Given the description of an element on the screen output the (x, y) to click on. 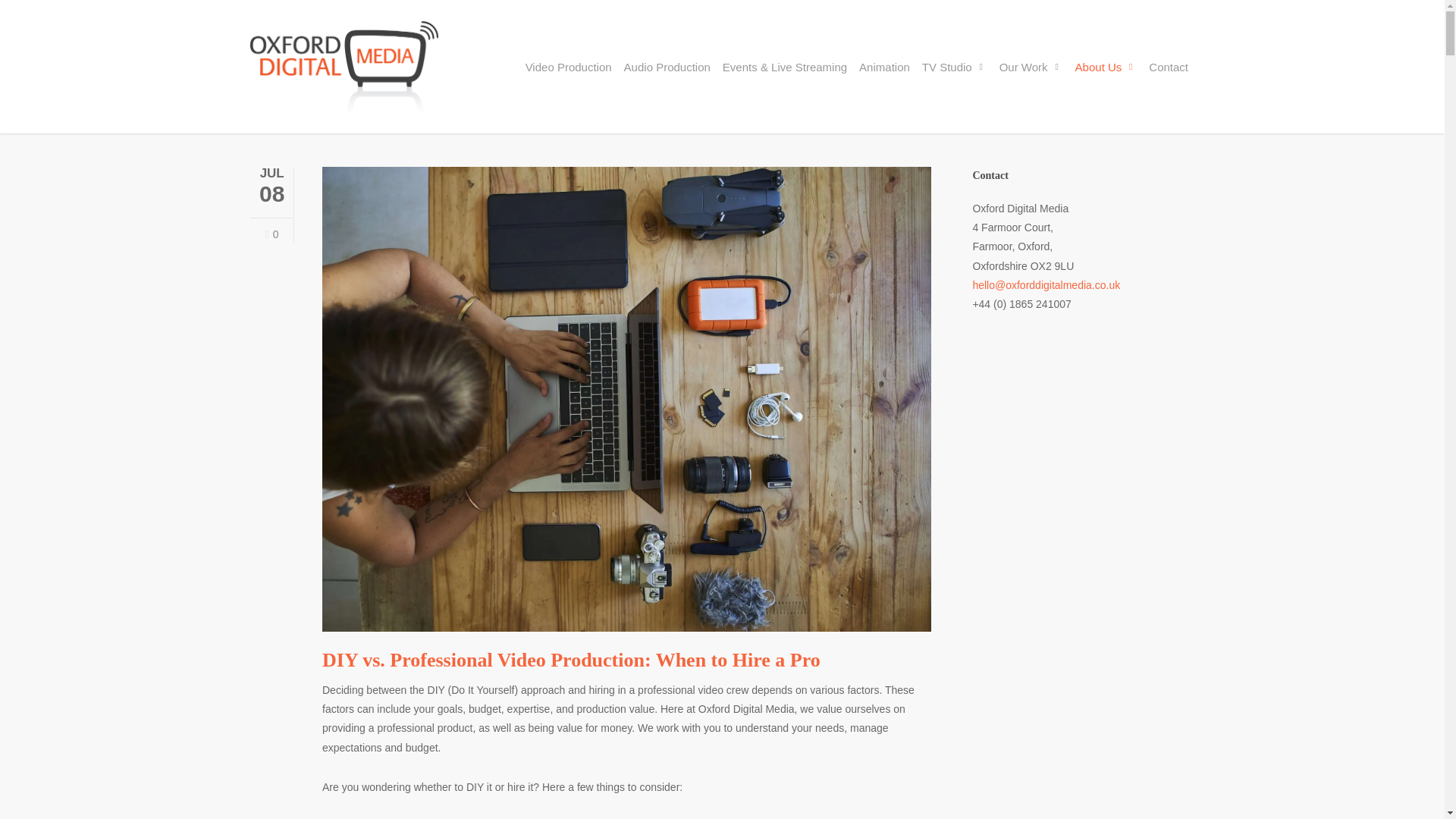
Our Work (1030, 66)
Love this (271, 234)
Animation (884, 66)
About Us (1105, 66)
TV Studio (953, 66)
Audio Production (666, 66)
DIY vs. Professional Video Production: When to Hire a Pro (571, 659)
Contact (1167, 66)
Video Production (568, 66)
0 (271, 234)
